Given the description of an element on the screen output the (x, y) to click on. 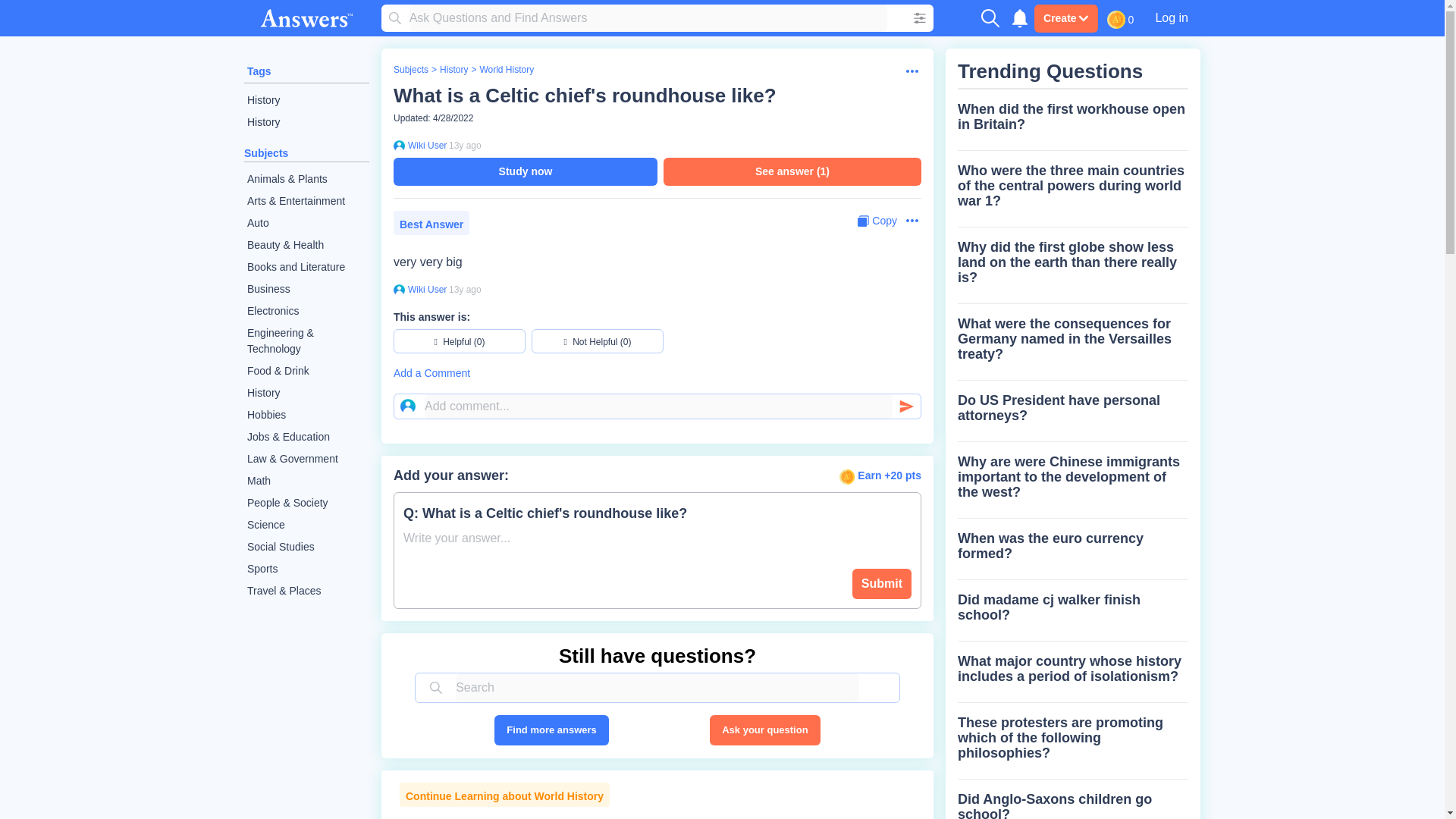
Science (306, 525)
Log in (1170, 17)
Social Studies (306, 546)
Wiki User (425, 289)
2010-10-28 16:03:02 (464, 145)
Copy (876, 220)
Wiki User (425, 145)
History (306, 122)
Subjects (410, 69)
History (453, 69)
